Given the description of an element on the screen output the (x, y) to click on. 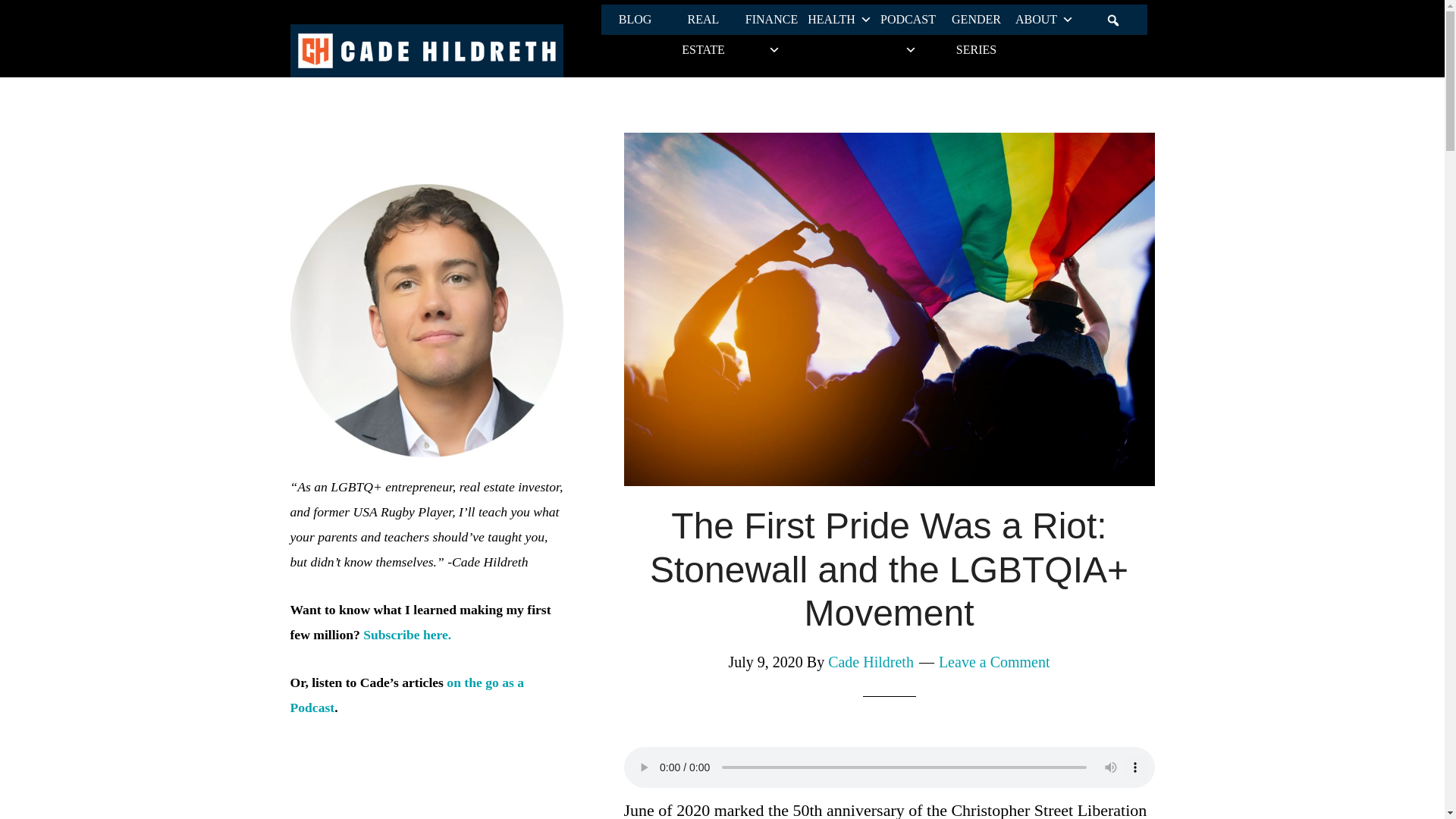
FINANCE (770, 19)
HEALTH (839, 19)
GENDER SERIES (976, 19)
Cade Hildreth (871, 661)
BLOG (633, 19)
Leave a Comment (994, 661)
ABOUT (1044, 19)
REAL ESTATE (702, 19)
CADE HILDRETH (425, 50)
PODCAST (907, 19)
